Given the description of an element on the screen output the (x, y) to click on. 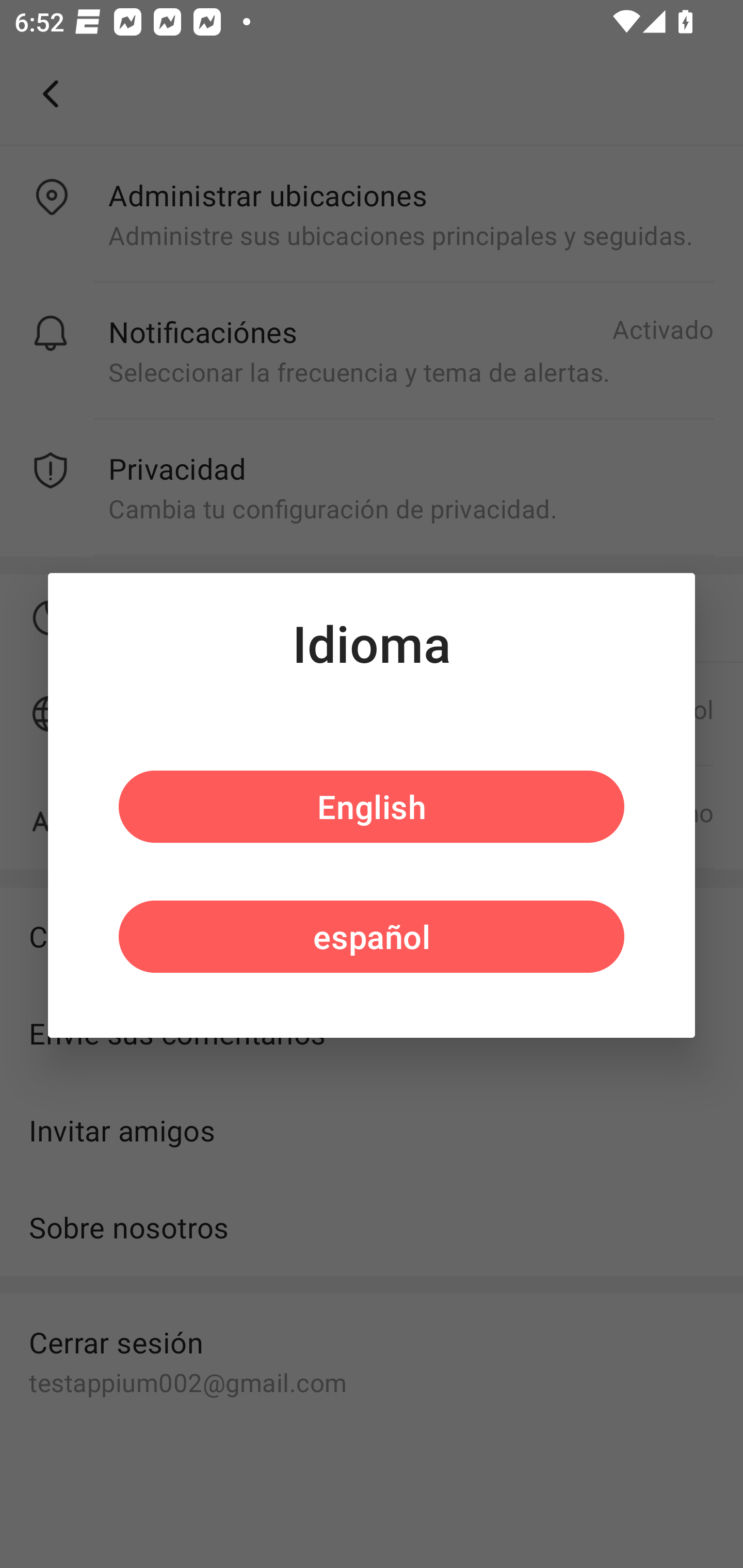
English (371, 806)
español (371, 936)
